Given the description of an element on the screen output the (x, y) to click on. 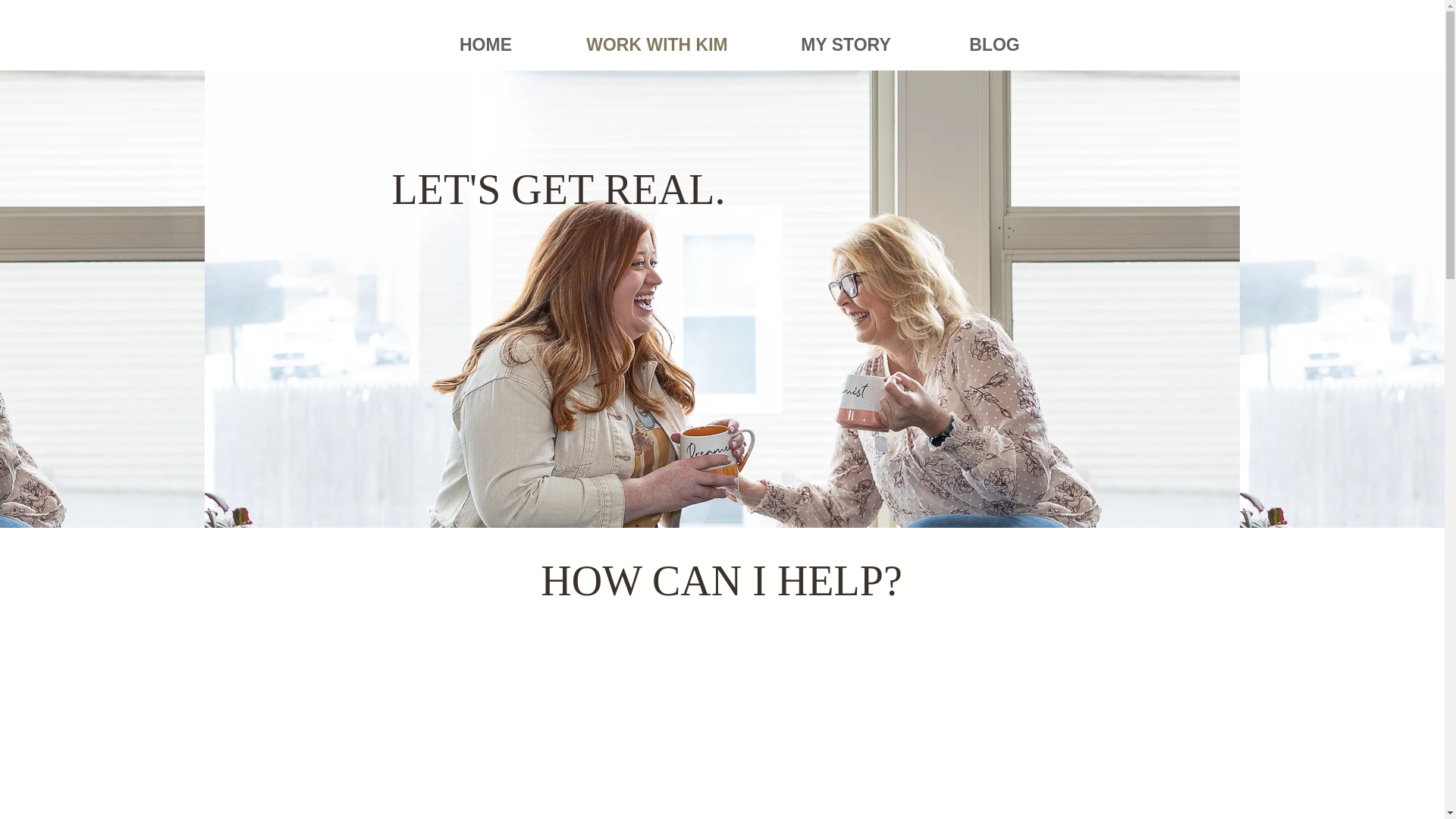
MY STORY (845, 44)
WORK WITH KIM (656, 44)
BLOG (994, 44)
HOME (485, 44)
